Given the description of an element on the screen output the (x, y) to click on. 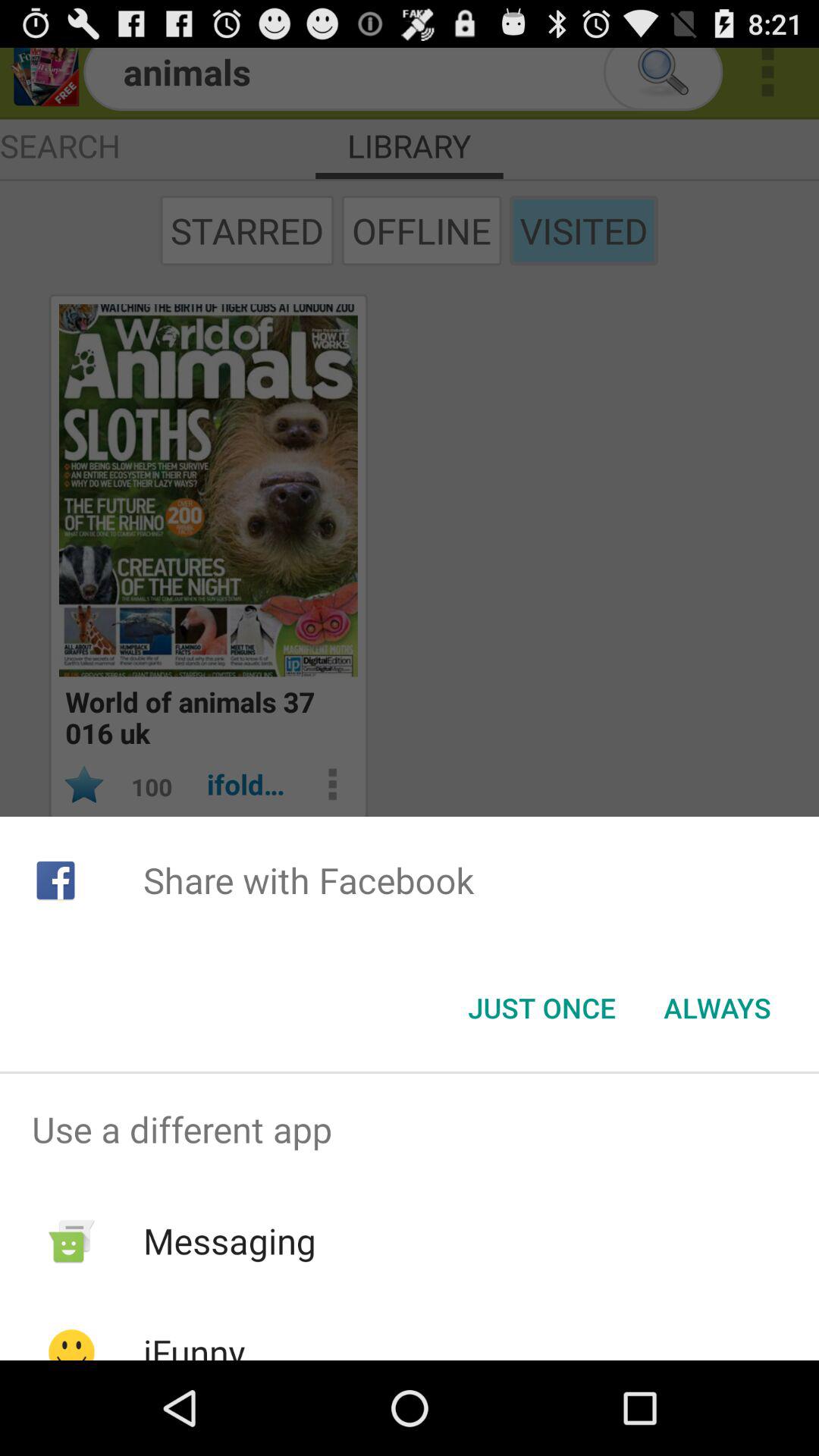
click item below the use a different app (229, 1240)
